Given the description of an element on the screen output the (x, y) to click on. 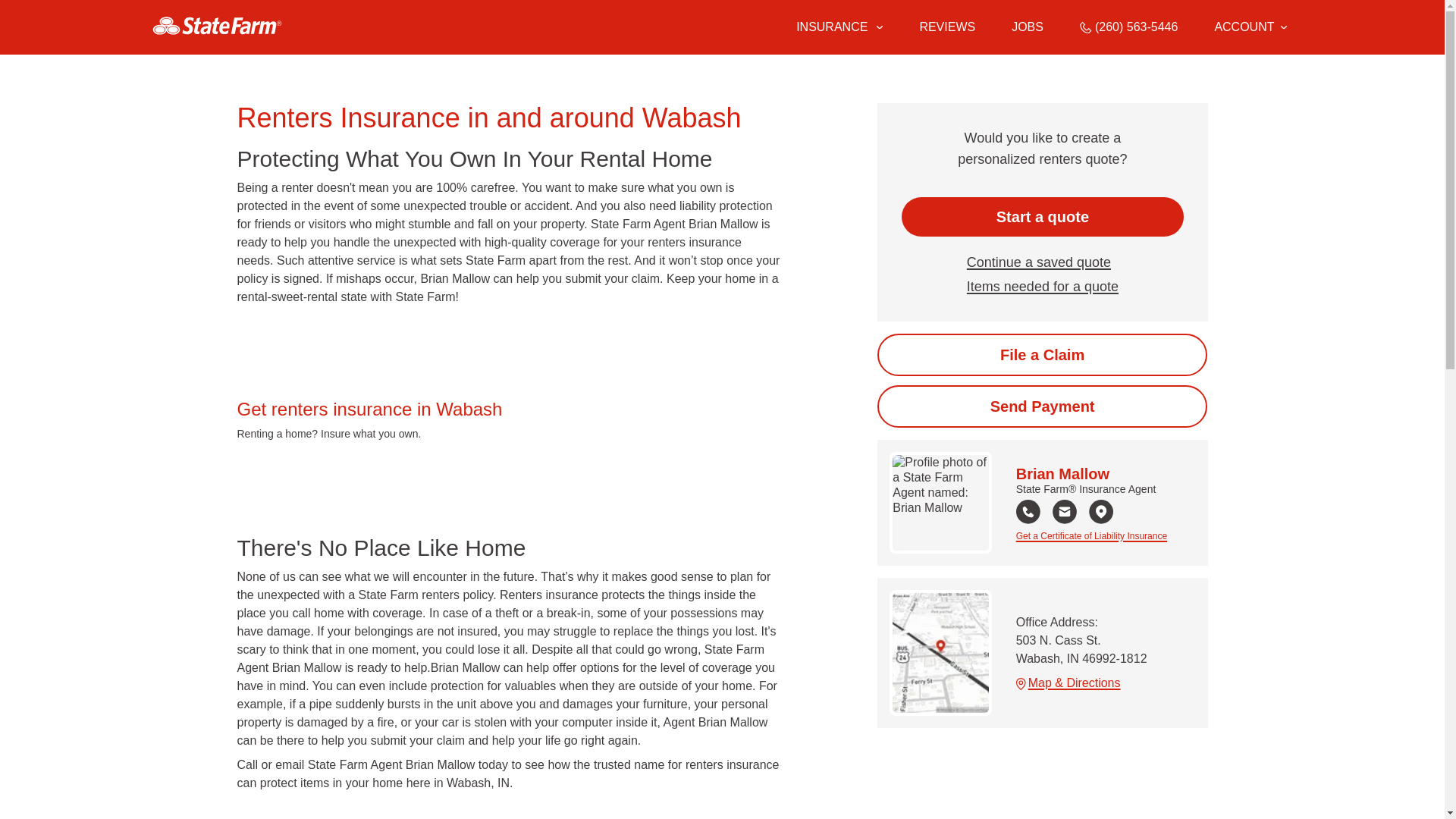
Start the claim process online (1042, 354)
JOBS (1027, 27)
INSURANCE (830, 27)
ACCOUNT (1250, 27)
REVIEWS (946, 27)
Insurance (839, 27)
Account Options (1250, 27)
